Given the description of an element on the screen output the (x, y) to click on. 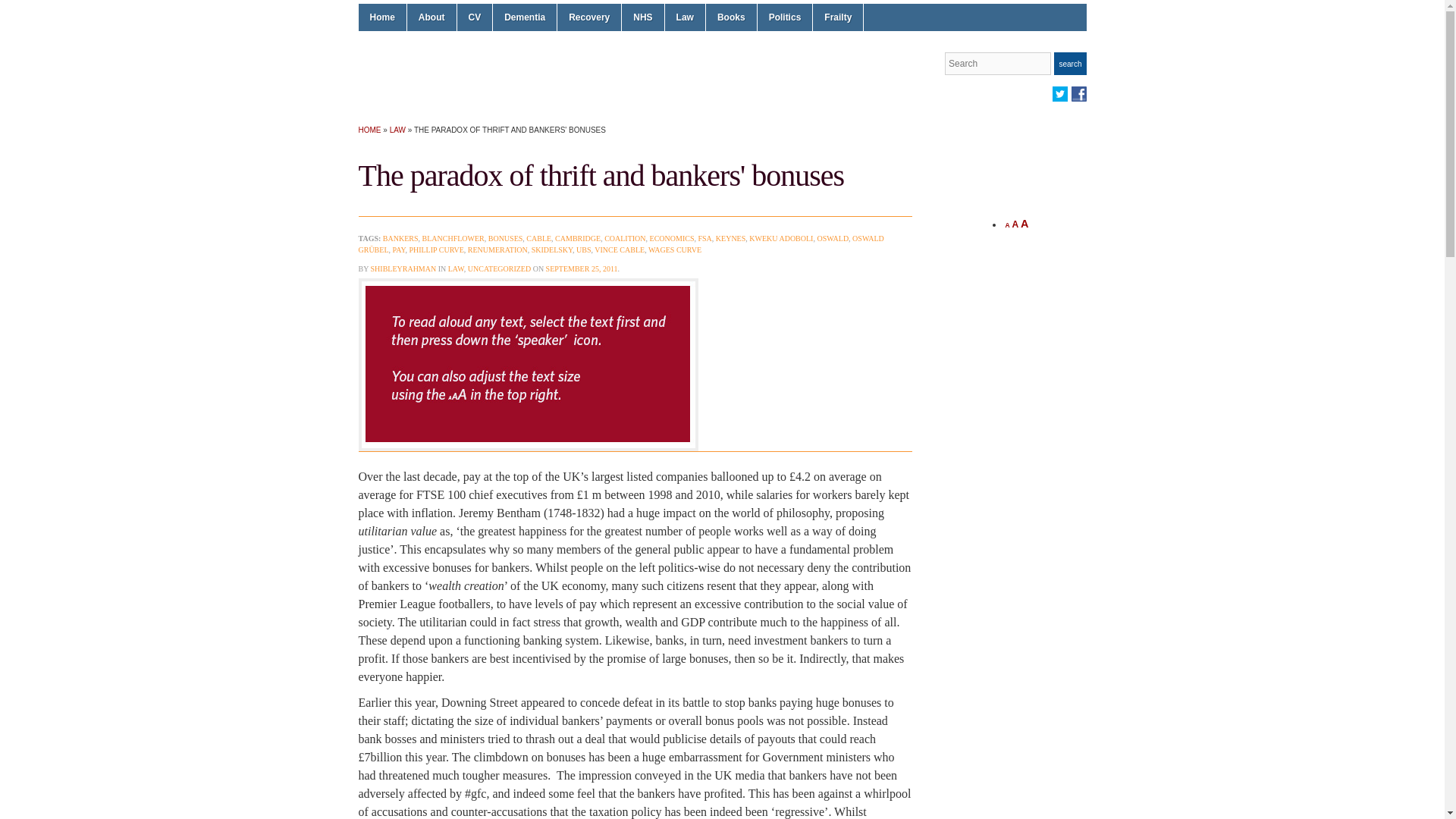
About (432, 17)
CAMBRIDGE (576, 238)
CV (474, 17)
FSA (704, 238)
CABLE (538, 238)
Dementia (524, 17)
SKIDELSKY (551, 249)
NHS (642, 17)
KEYNES (730, 238)
RENUMERATION (497, 249)
BANKERS (400, 238)
Books (731, 17)
PAY (399, 249)
KWEKU ADOBOLI (780, 238)
BONUSES (504, 238)
